Given the description of an element on the screen output the (x, y) to click on. 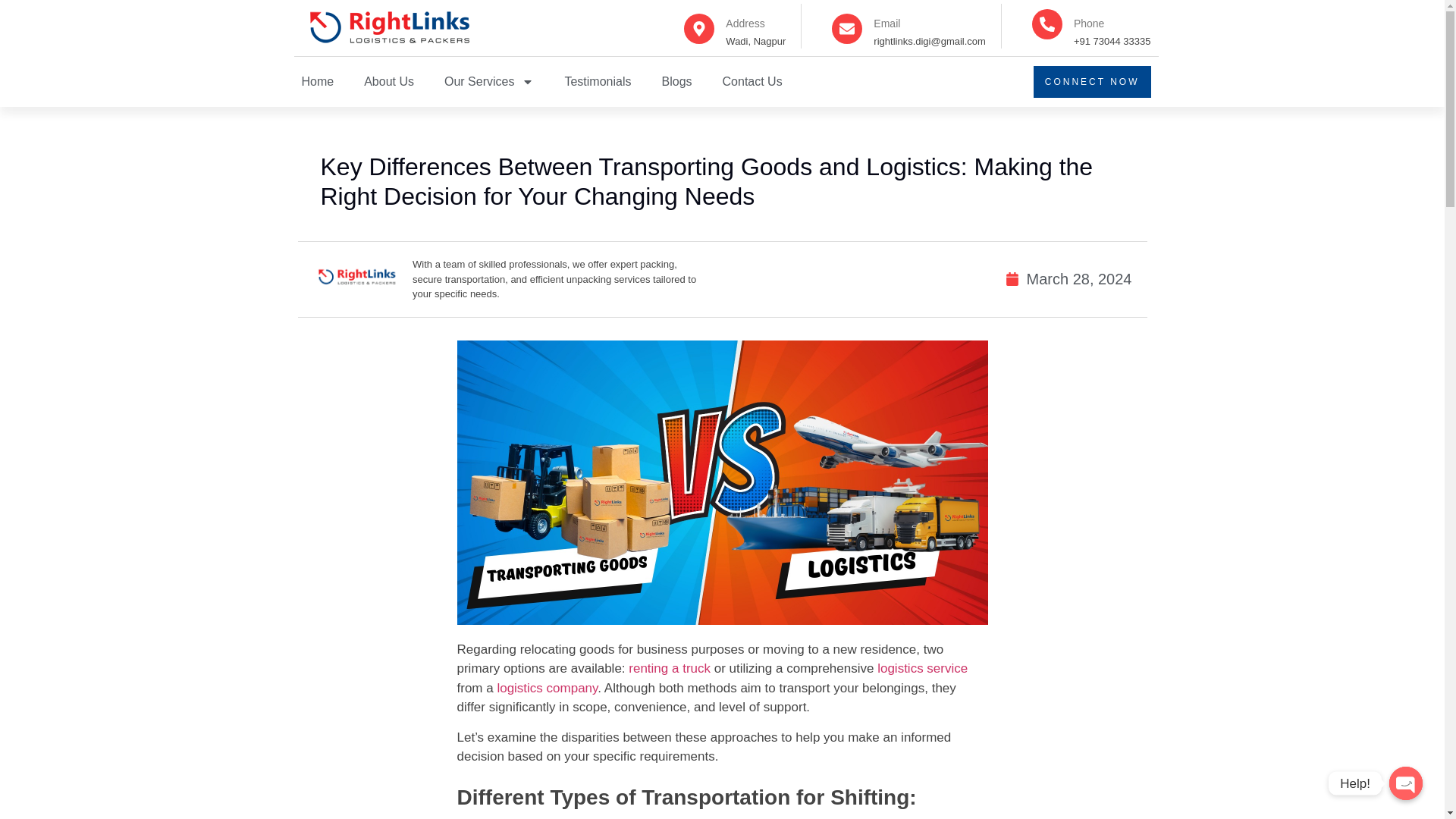
Contact Us (752, 81)
Our Services (489, 81)
Home (317, 81)
CONNECT NOW (1092, 81)
About Us (388, 81)
Testimonials (597, 81)
